Given the description of an element on the screen output the (x, y) to click on. 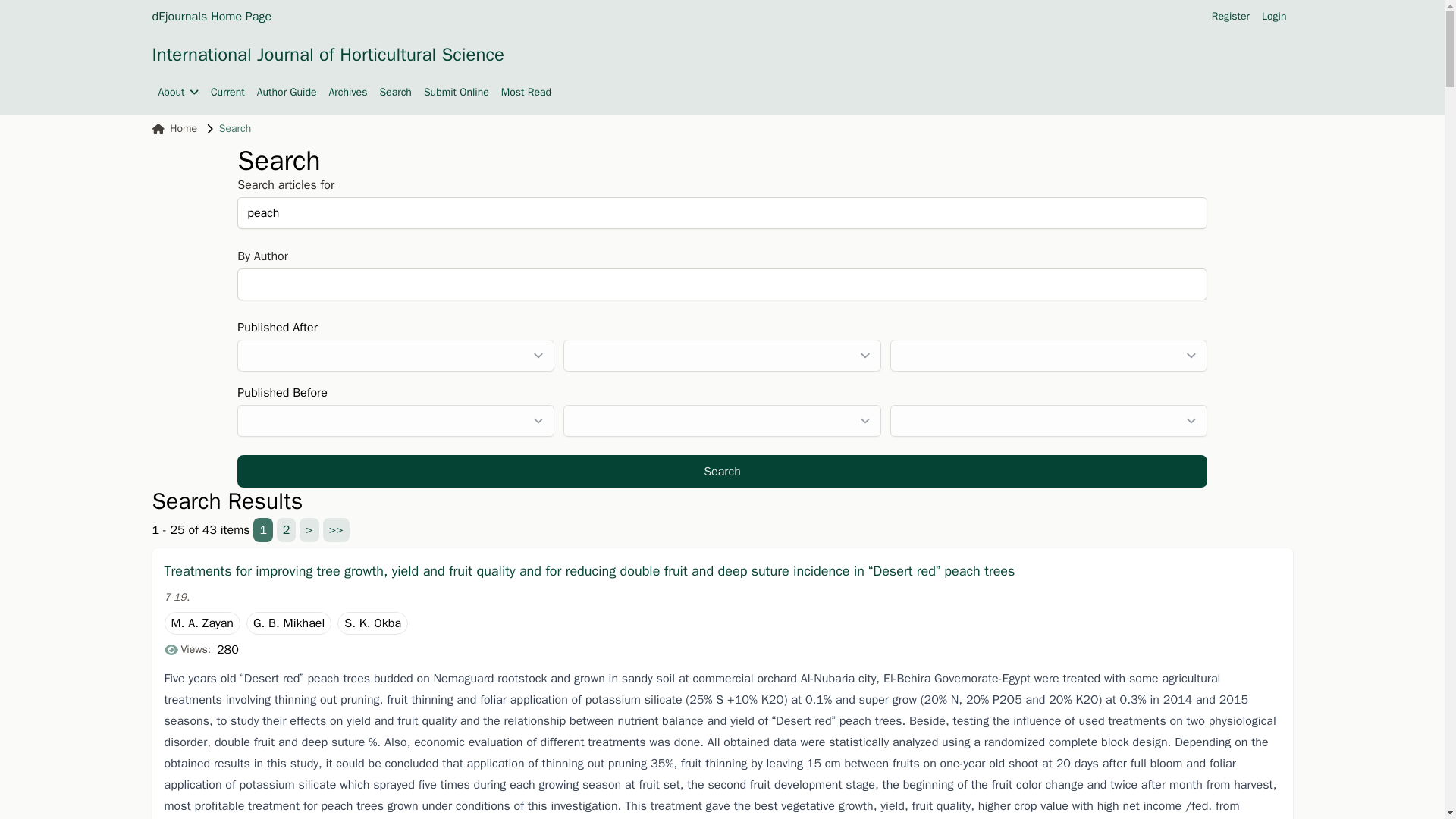
dEjournals Home Page (210, 16)
peach (722, 213)
Most Read (525, 92)
Register (1230, 16)
International Journal of Horticultural Science (327, 54)
Submit Online (456, 92)
Home (173, 128)
Archives (348, 92)
Author Guide (287, 92)
Current (227, 92)
